Given the description of an element on the screen output the (x, y) to click on. 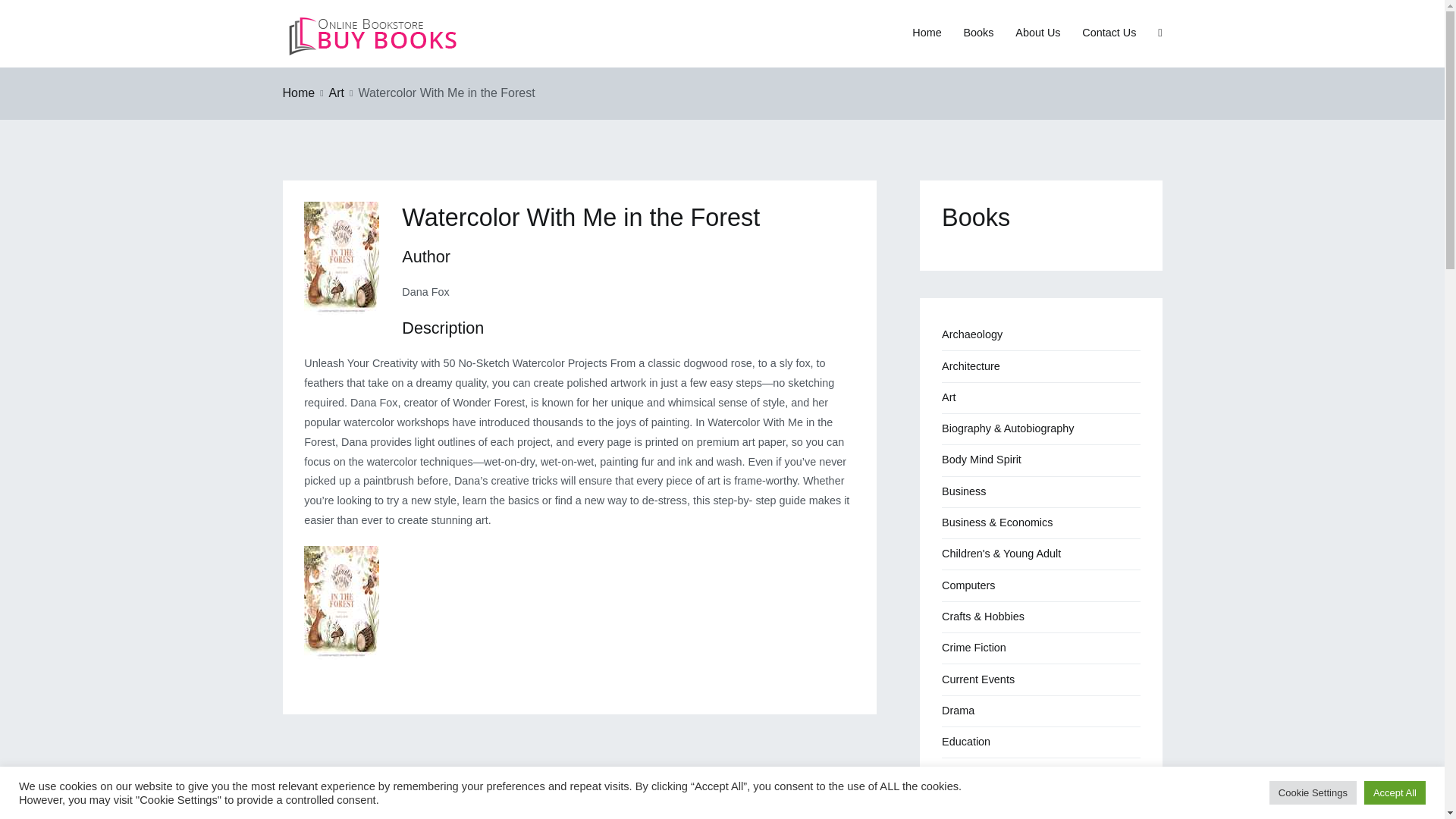
Archaeology (972, 335)
Crime Fiction (974, 648)
Modern Languages Study Guides: Entre les murs (369, 806)
Education (966, 742)
Drama (958, 711)
Computers (968, 585)
Home (298, 92)
Art (336, 92)
Contact Us (1108, 33)
Business (963, 491)
Books (977, 33)
Architecture (971, 366)
Body Mind Spirit (982, 460)
Fantasy (960, 804)
About Us (1036, 33)
